Given the description of an element on the screen output the (x, y) to click on. 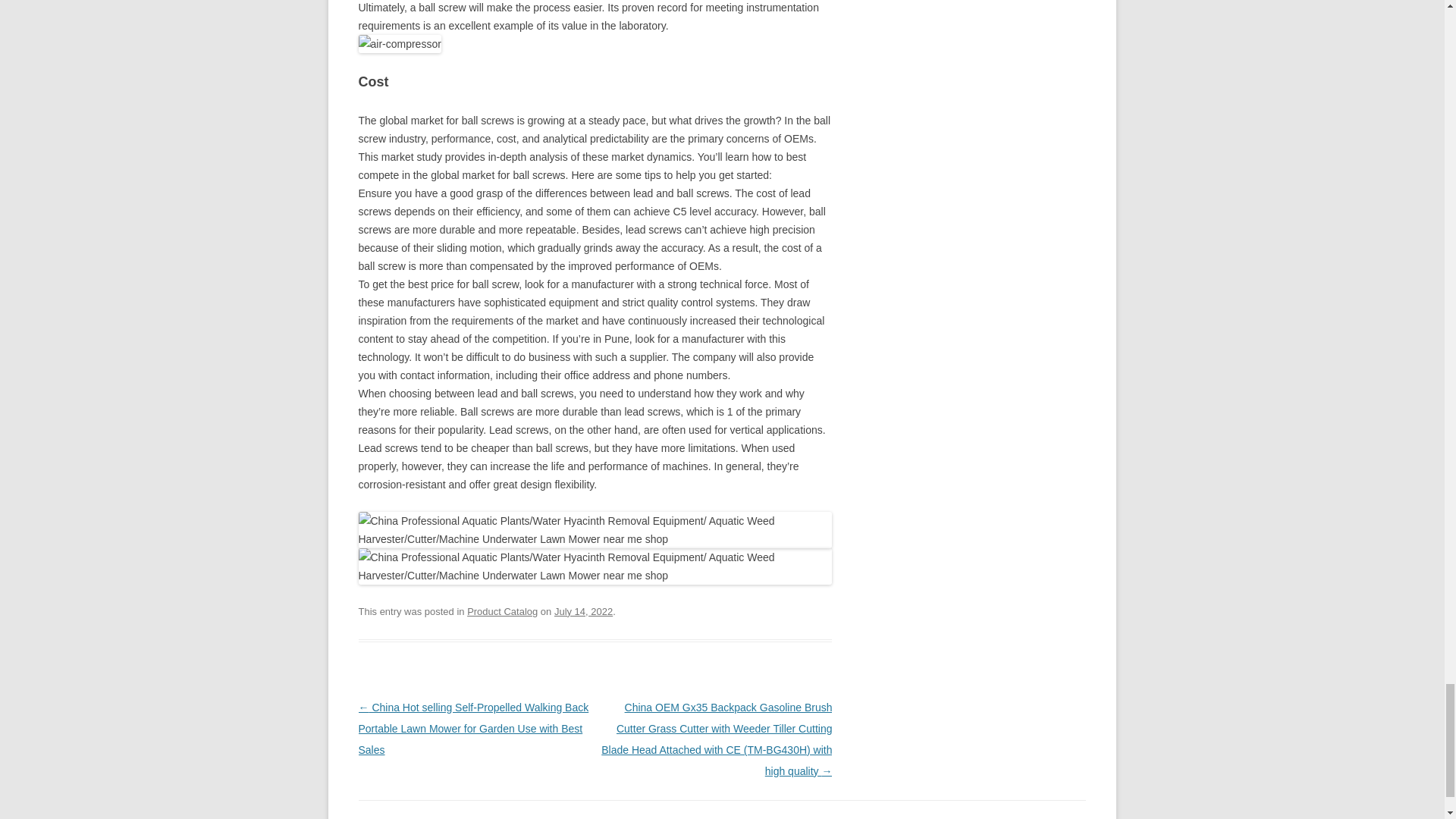
11:40 pm (583, 611)
Product Catalog (502, 611)
July 14, 2022 (583, 611)
